Given the description of an element on the screen output the (x, y) to click on. 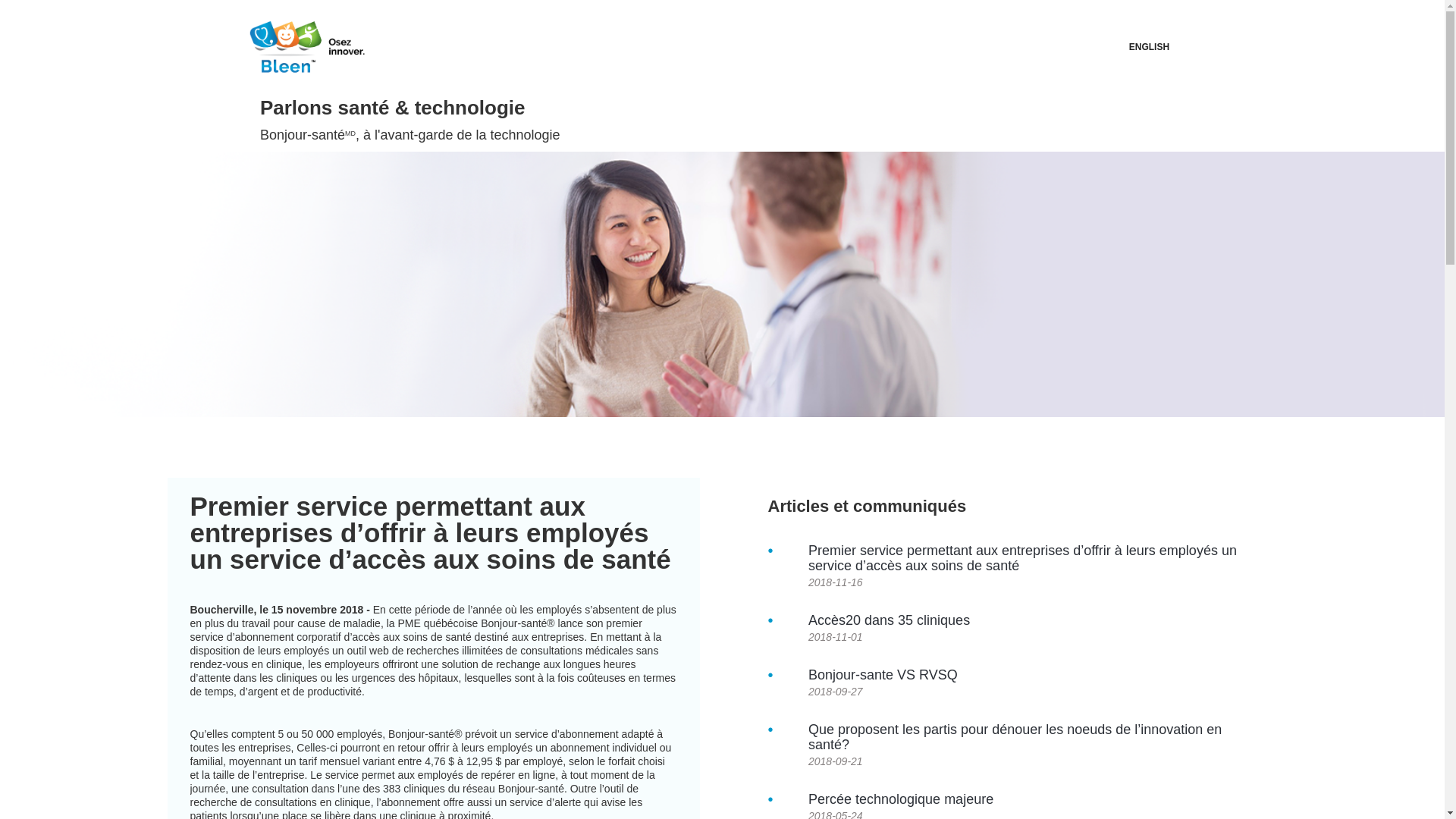
ENGLISH Element type: text (1148, 46)
Bonjour-sante VS RVSQ Element type: text (1031, 674)
